Given the description of an element on the screen output the (x, y) to click on. 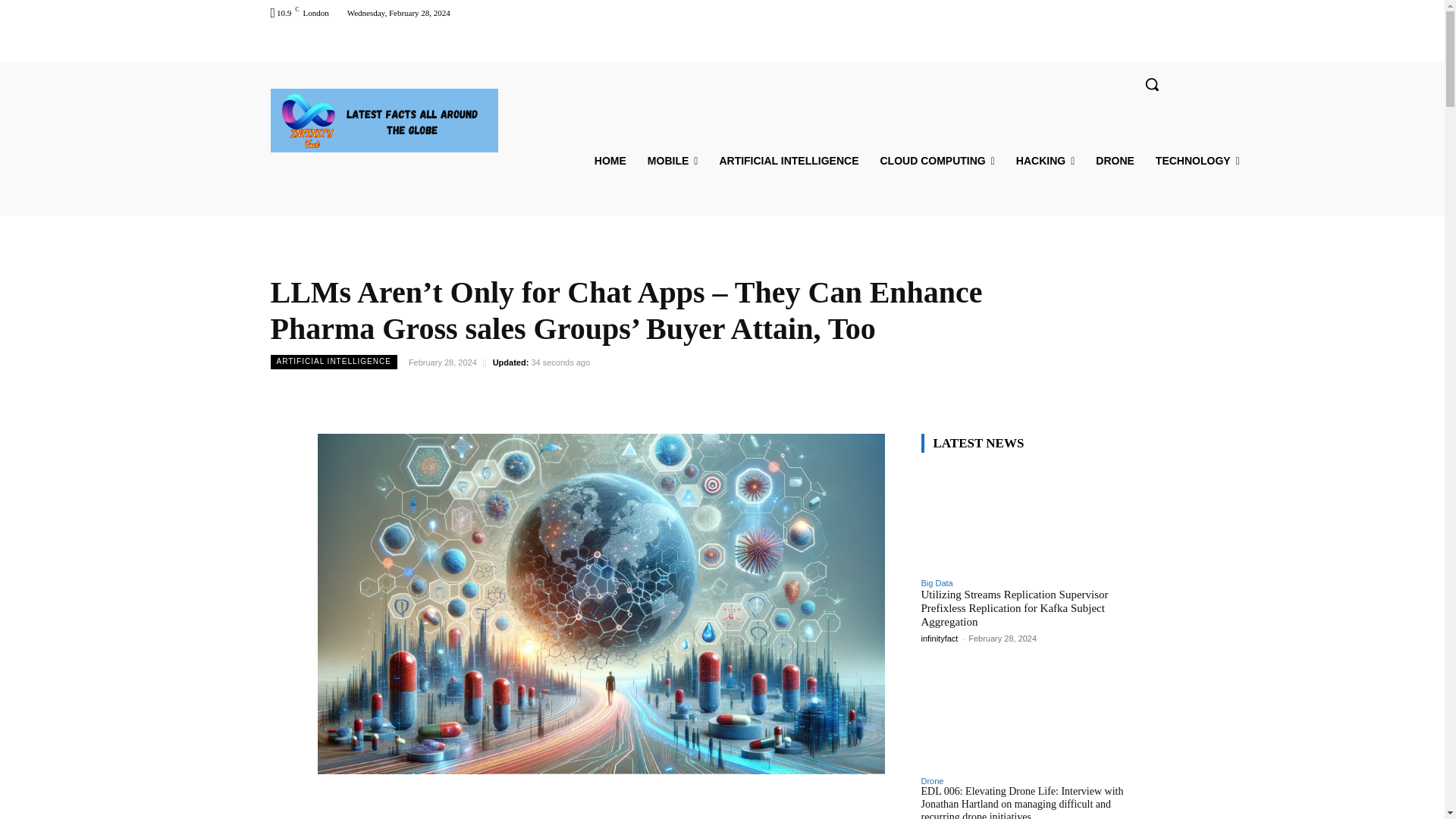
HOME (610, 160)
CLOUD COMPUTING (936, 160)
HACKING (1045, 160)
ARTIFICIAL INTELLIGENCE (788, 160)
MOBILE (673, 160)
